Given the description of an element on the screen output the (x, y) to click on. 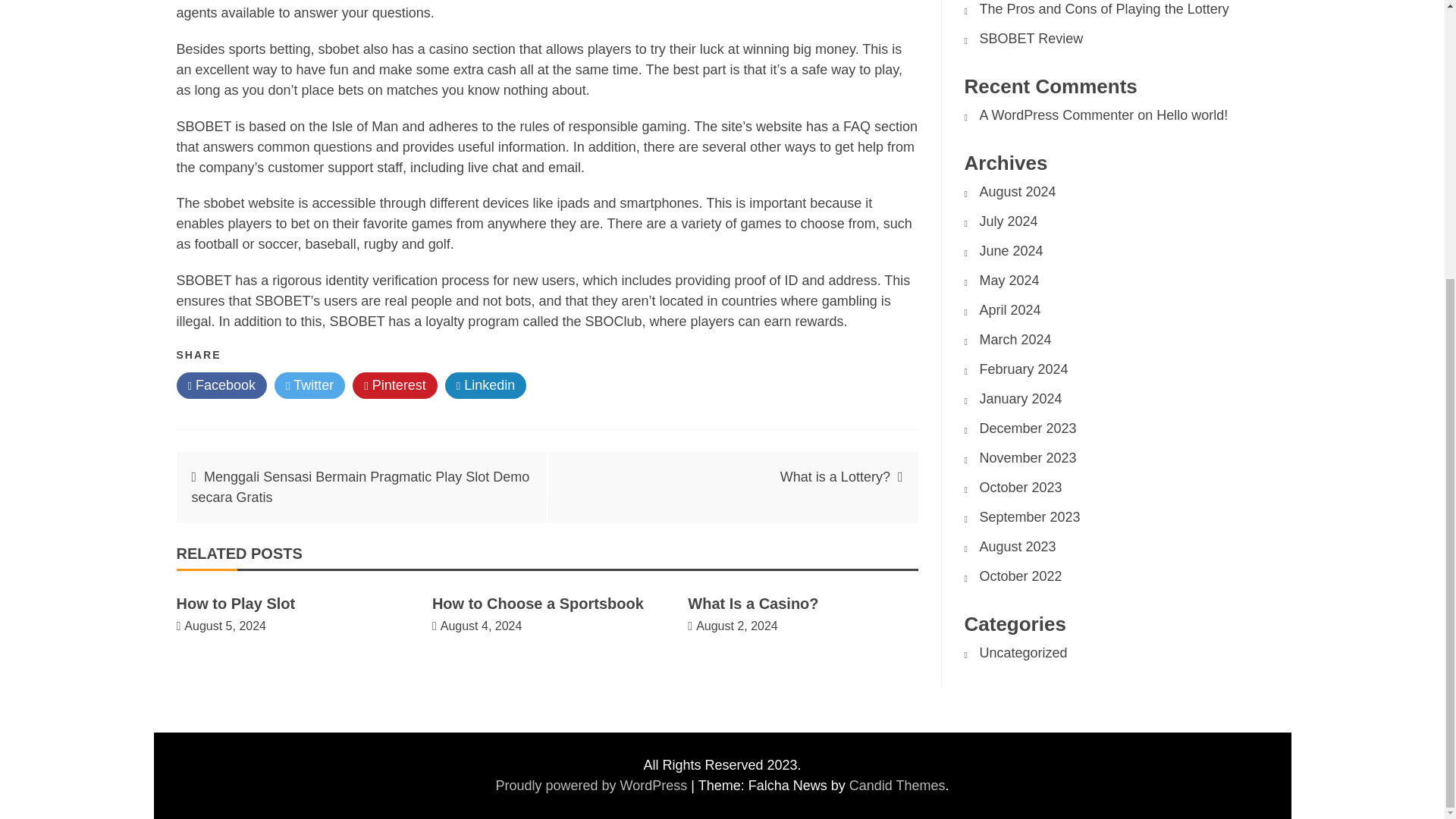
January 2024 (1020, 398)
August 2024 (1018, 191)
Pinterest (395, 385)
June 2024 (1011, 250)
February 2024 (1023, 368)
August 2, 2024 (736, 625)
August 4, 2024 (481, 625)
Facebook (221, 385)
What Is a Casino? (752, 603)
